Given the description of an element on the screen output the (x, y) to click on. 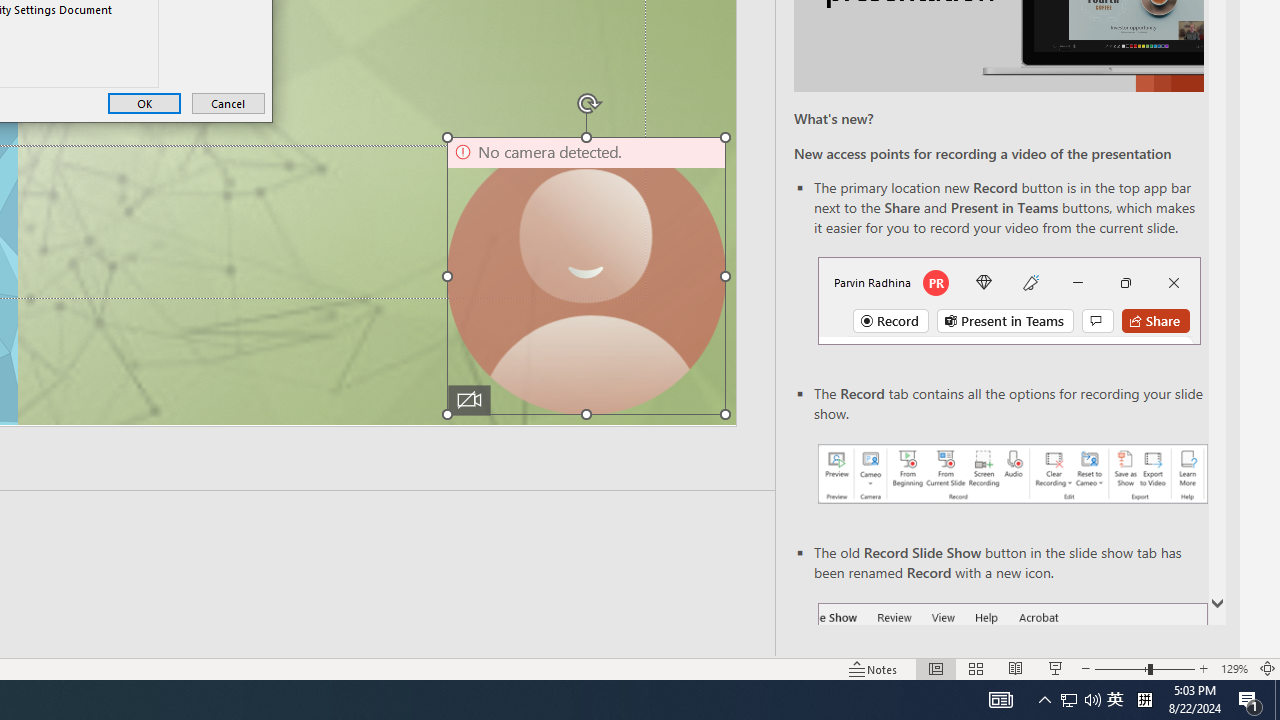
Record button in top bar (1008, 300)
Cancel (228, 103)
OK (144, 103)
Camera 9, No camera detected. (586, 275)
Record your presentations screenshot one (1012, 473)
Zoom 129% (1234, 668)
